Given the description of an element on the screen output the (x, y) to click on. 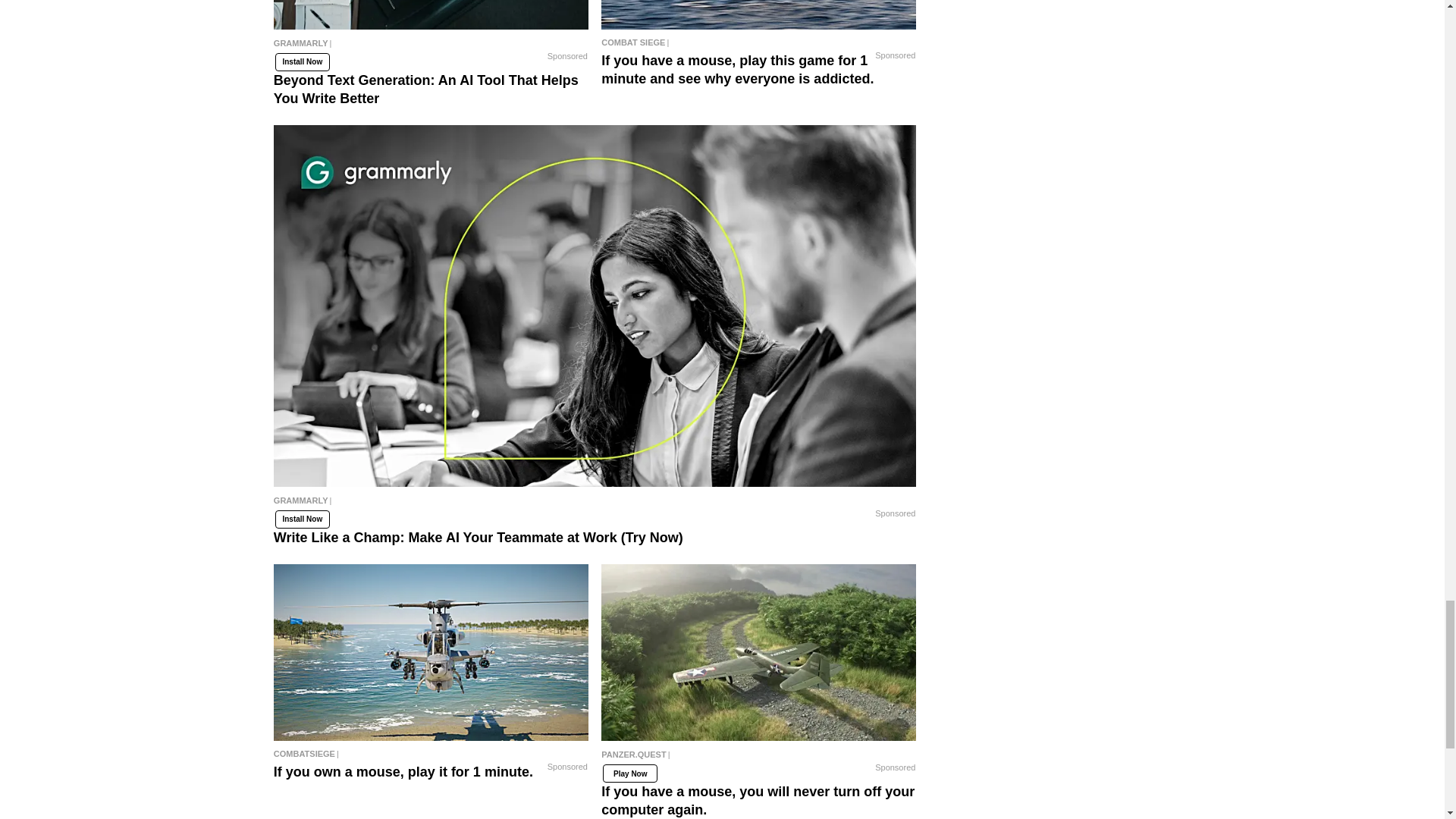
If you own a mouse, play it for 1 minute. (430, 753)
